Given the description of an element on the screen output the (x, y) to click on. 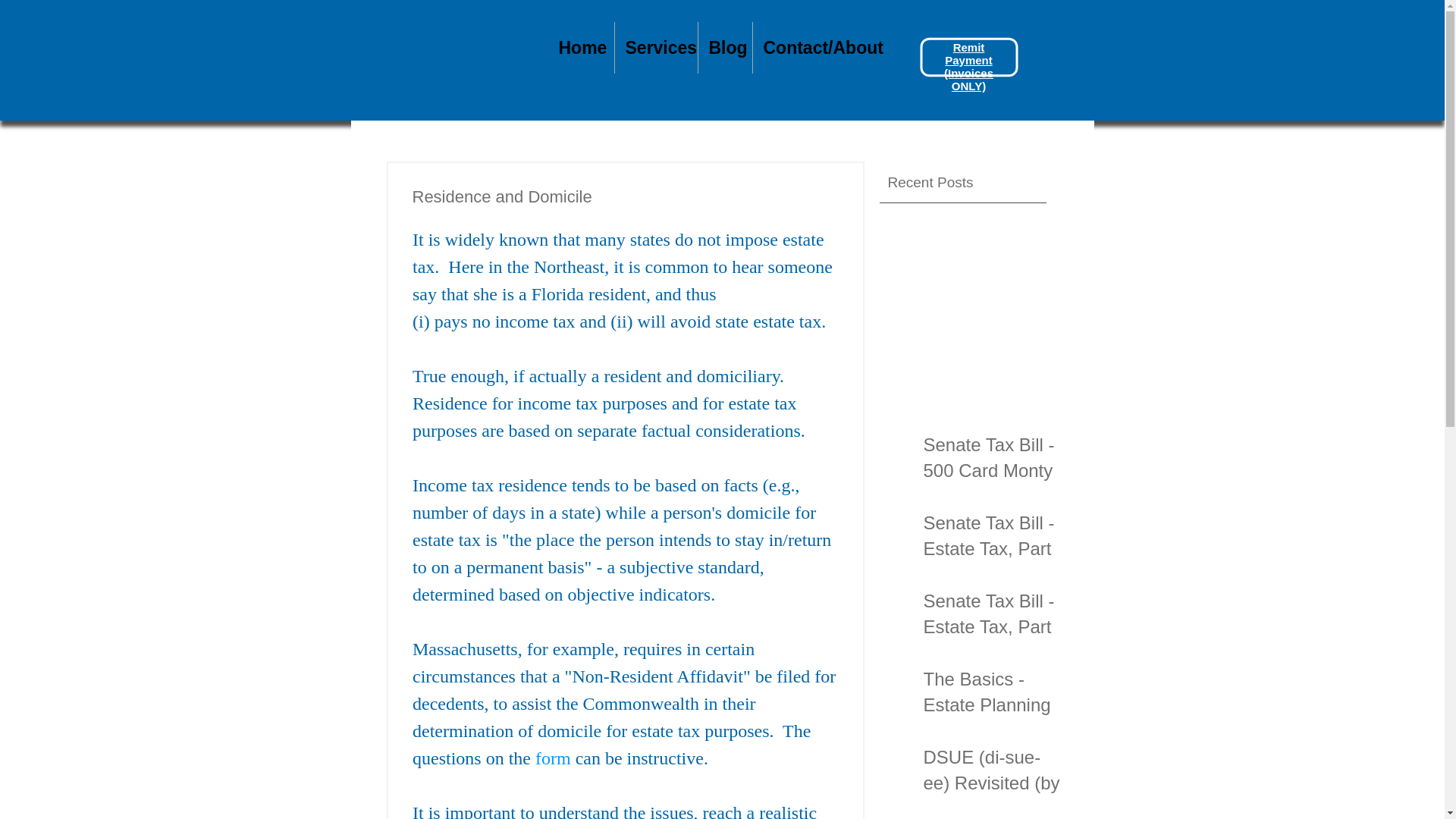
form (552, 758)
Blog (724, 47)
Home (579, 47)
The Basics - Estate Planning (992, 694)
